Given the description of an element on the screen output the (x, y) to click on. 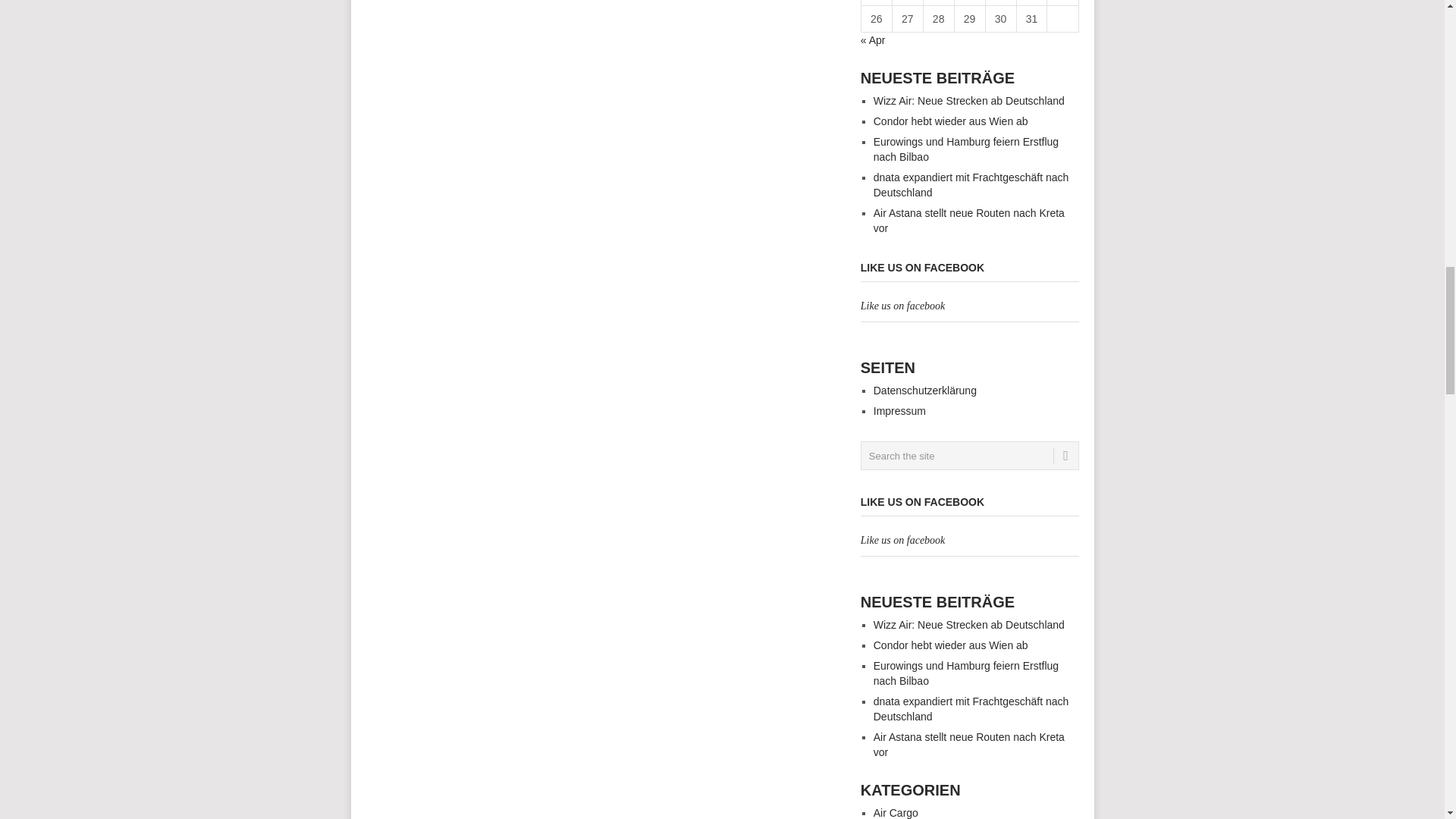
Search the site (969, 455)
